Given the description of an element on the screen output the (x, y) to click on. 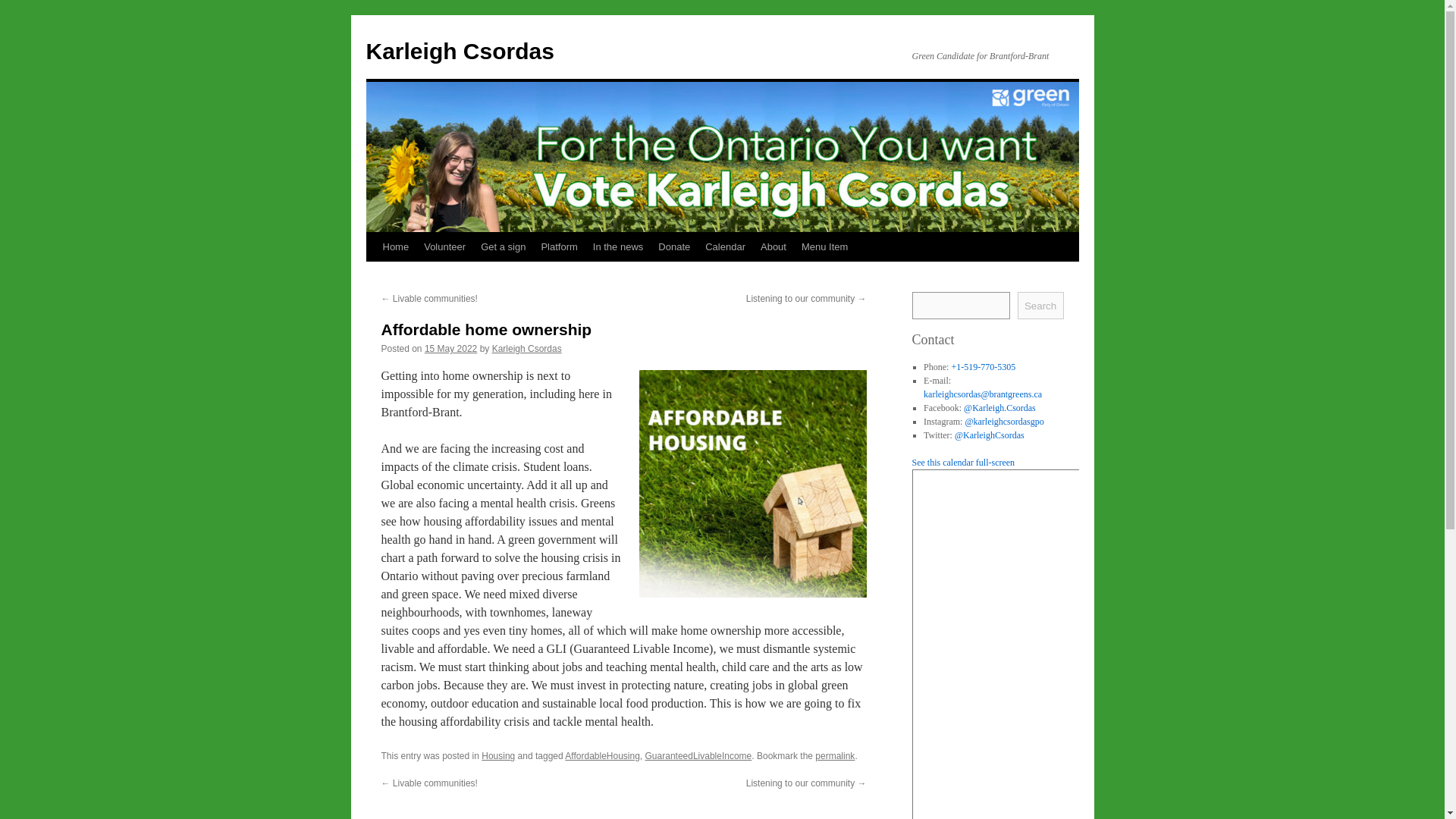
Search (1040, 305)
Call Karleigh Csordas (982, 366)
GuaranteedLivableIncome (698, 756)
12:44 pm (451, 348)
Karleigh Csordas (459, 50)
In the news (617, 246)
Karleigh Csordas (527, 348)
See this calendar full-screen (962, 462)
Get a sign (502, 246)
15 May 2022 (451, 348)
